Given the description of an element on the screen output the (x, y) to click on. 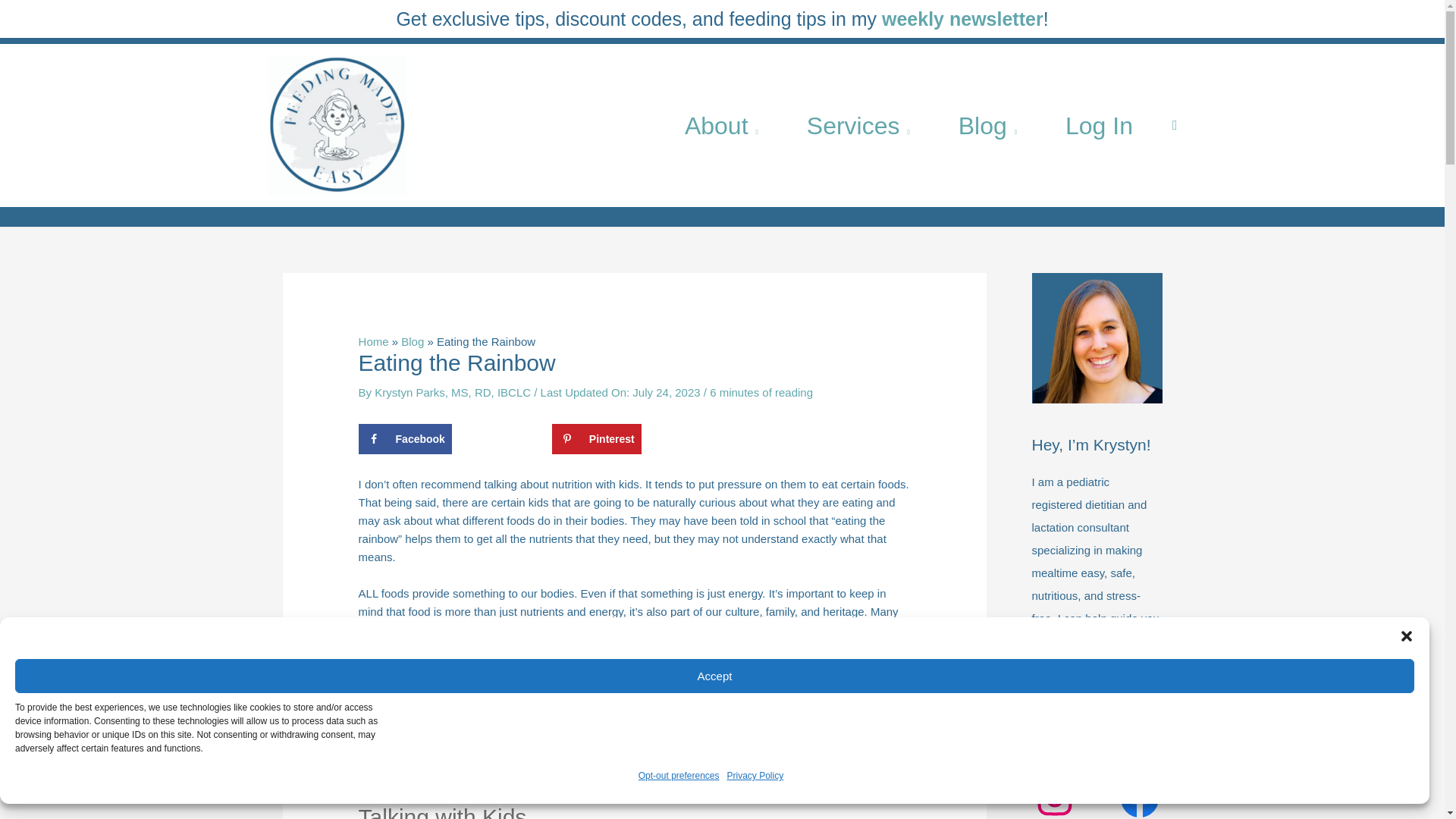
About (722, 124)
weekly newsletter (962, 18)
Services (858, 124)
Opt-out preferences (679, 775)
Blog (987, 124)
Accept (713, 675)
Share on Facebook (404, 439)
View all posts by Krystyn Parks, MS, RD, IBCLC (454, 391)
Share on X (501, 439)
Log In (1099, 124)
